Given the description of an element on the screen output the (x, y) to click on. 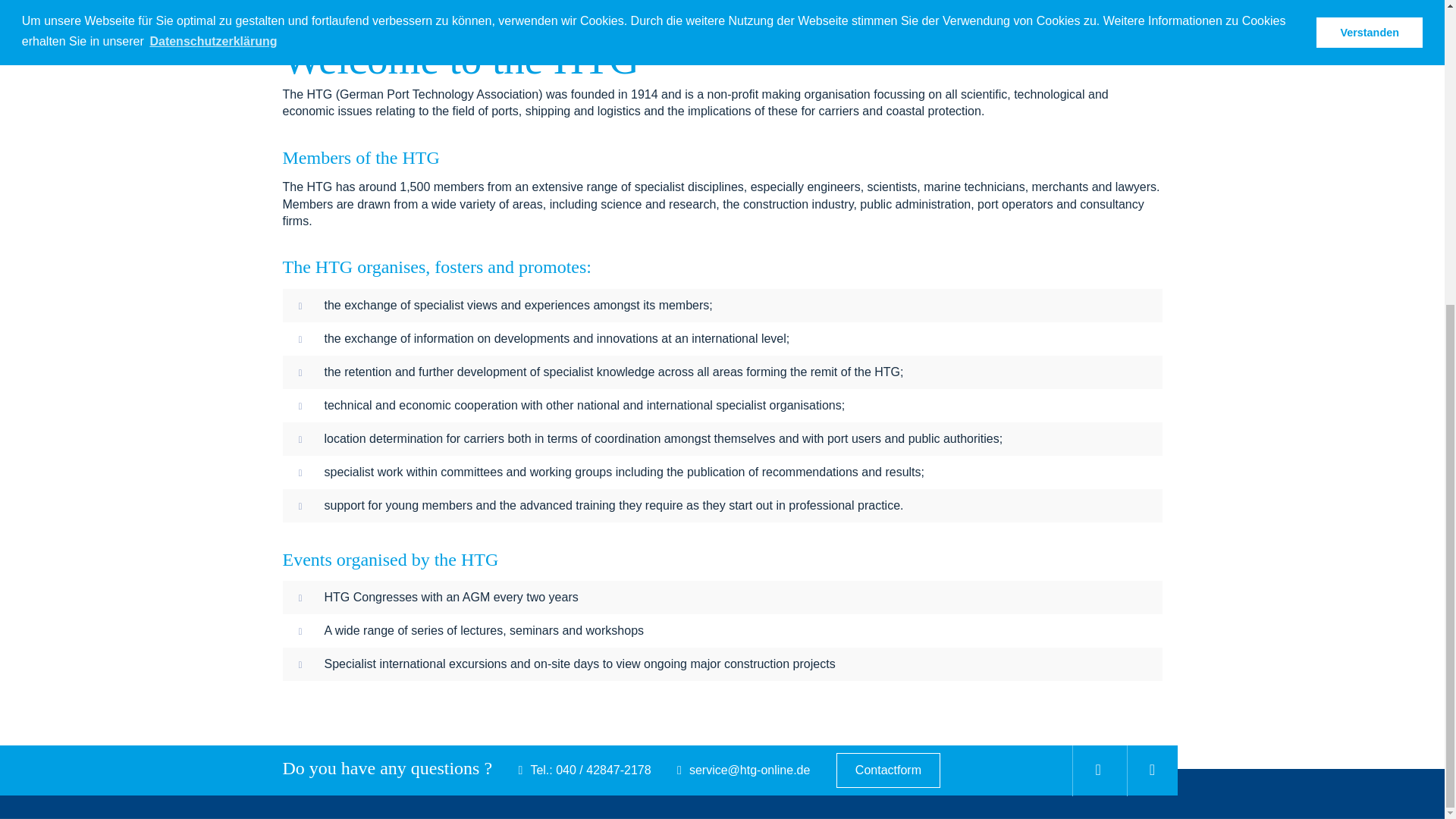
Contactform (887, 769)
